Given the description of an element on the screen output the (x, y) to click on. 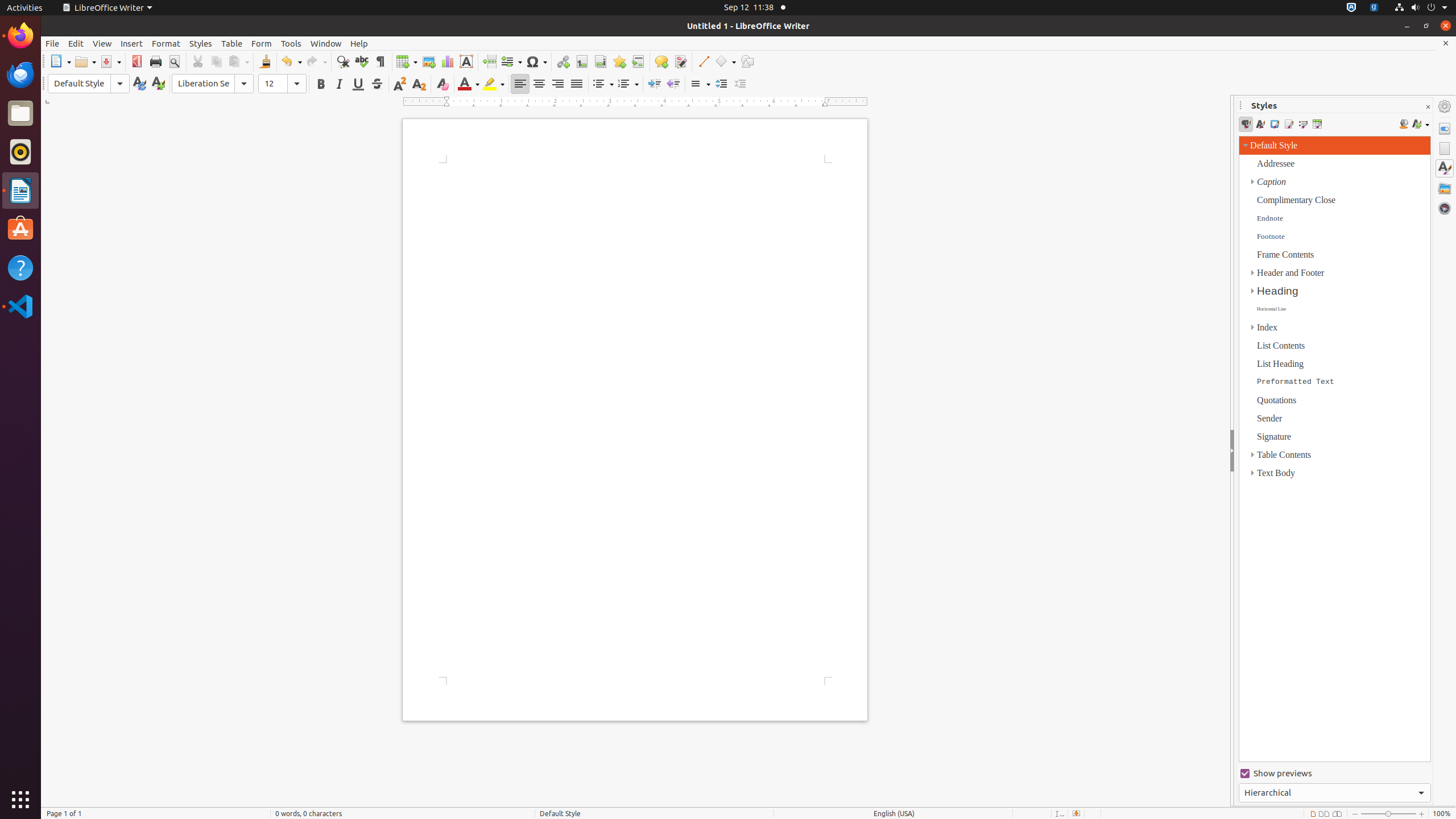
Bold Element type: toggle-button (320, 83)
Files Element type: push-button (20, 113)
Font Name Element type: combo-box (212, 83)
Paragraph Styles Element type: push-button (1245, 123)
Redo Element type: push-button (315, 61)
